Given the description of an element on the screen output the (x, y) to click on. 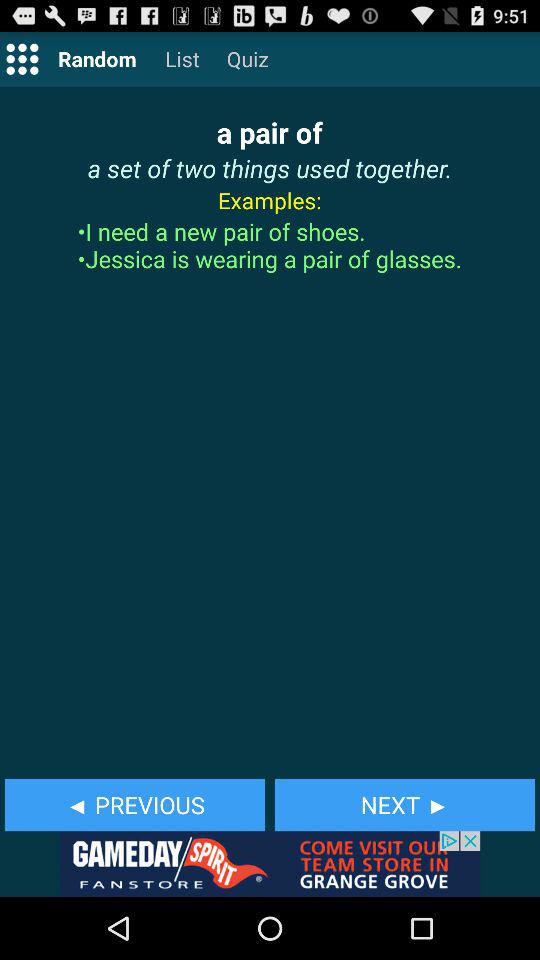
click the advertisement (270, 864)
